Given the description of an element on the screen output the (x, y) to click on. 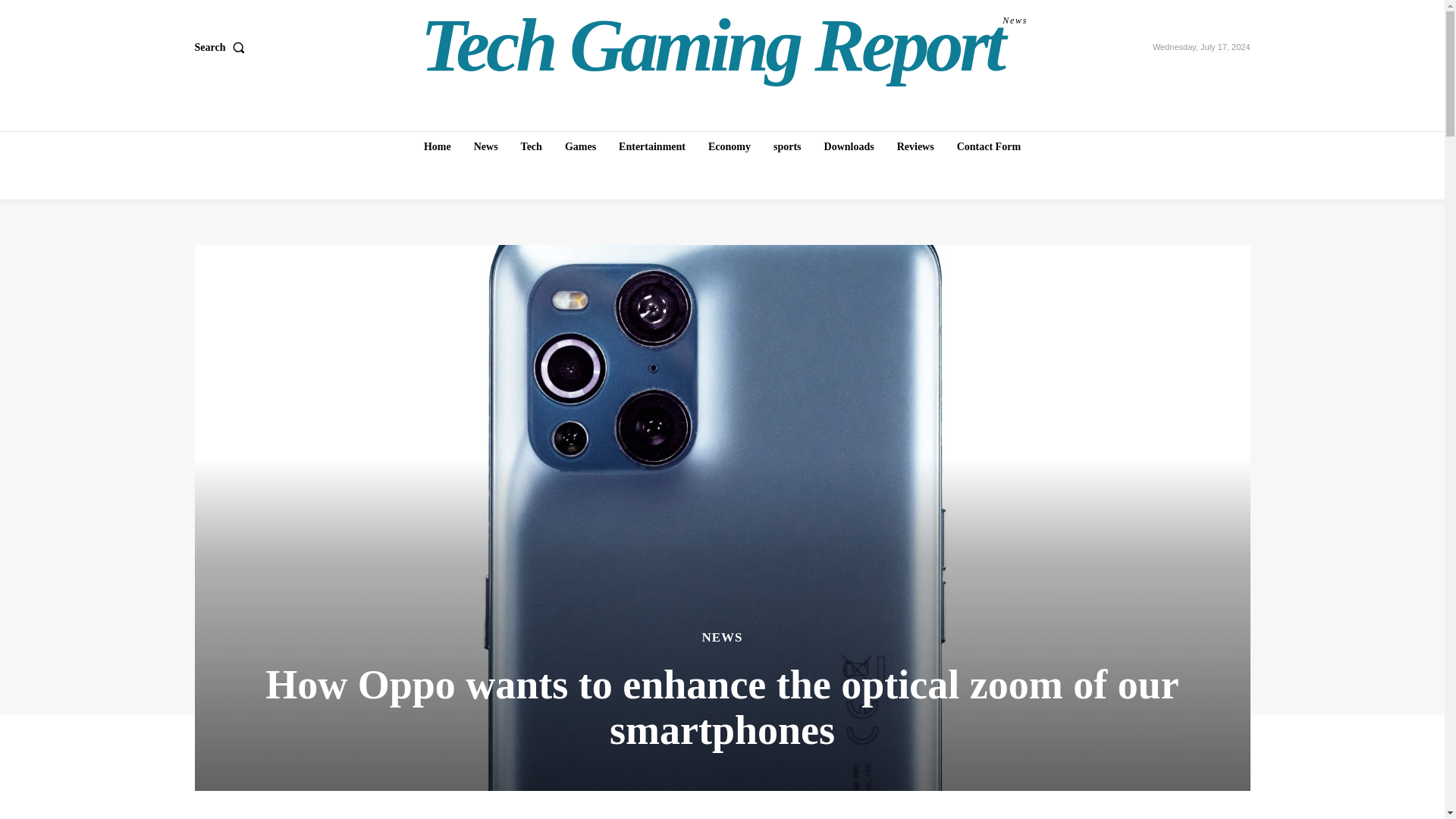
Reviews (915, 146)
Tech (531, 146)
Search (724, 45)
Home (221, 47)
Downloads (437, 146)
sports (849, 146)
Games (787, 146)
Contact Form (580, 146)
Entertainment (988, 146)
Economy (652, 146)
News (729, 146)
